Given the description of an element on the screen output the (x, y) to click on. 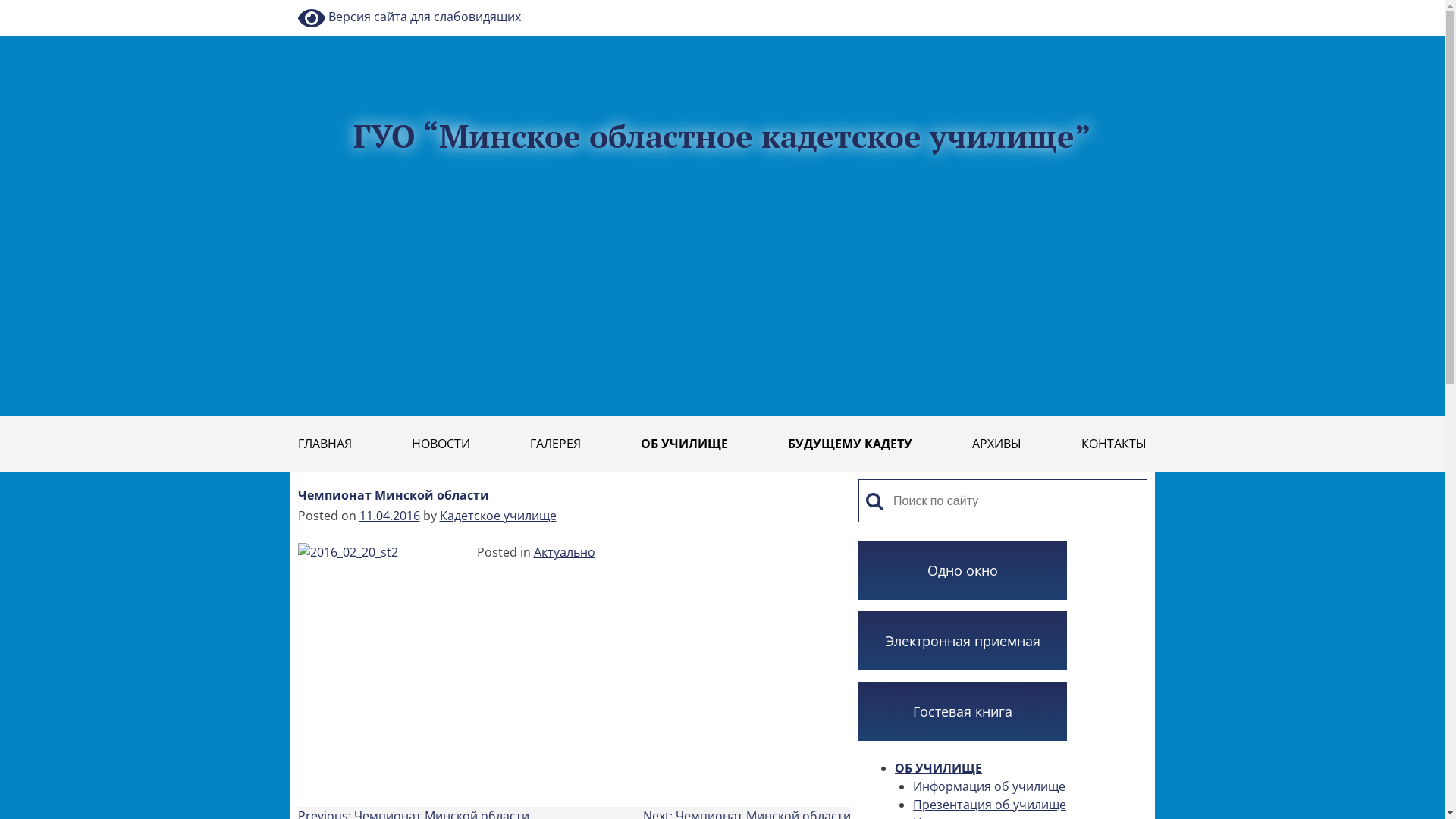
Belarusian Element type: hover (1112, 7)
Russian Element type: hover (1146, 7)
11.04.2016 Element type: text (389, 515)
English Element type: hover (1129, 7)
